Given the description of an element on the screen output the (x, y) to click on. 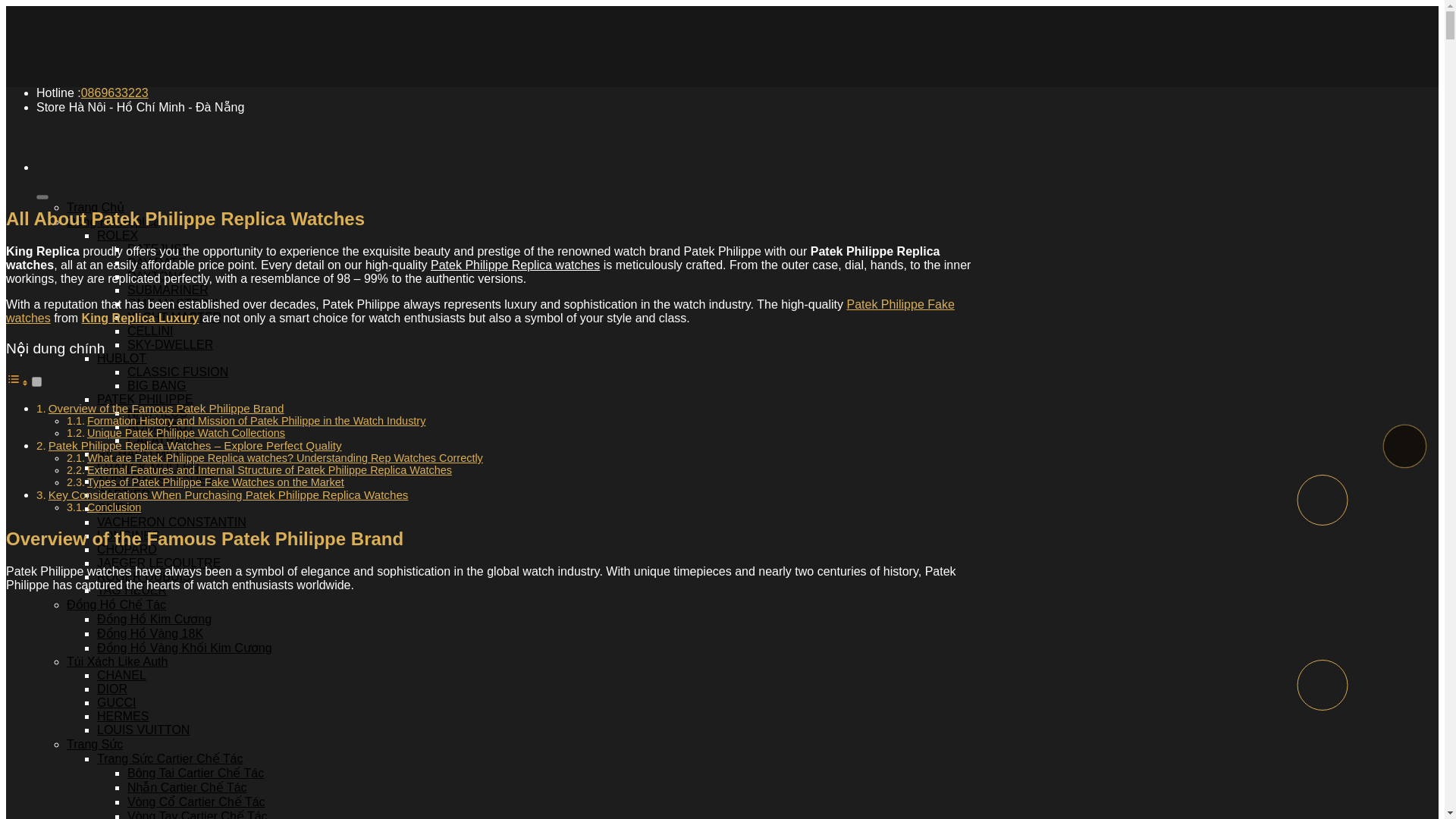
NAUTILUS (157, 412)
LONGINES (128, 535)
ROLEX (117, 235)
RICHARD MILLE (143, 453)
CELLINI (150, 330)
Types of Patek Philippe Fake Watches on the Market (215, 481)
JAEGER LECOULTRE (159, 562)
CLASSIC FUSION (178, 371)
DATEJUST (158, 248)
